Given the description of an element on the screen output the (x, y) to click on. 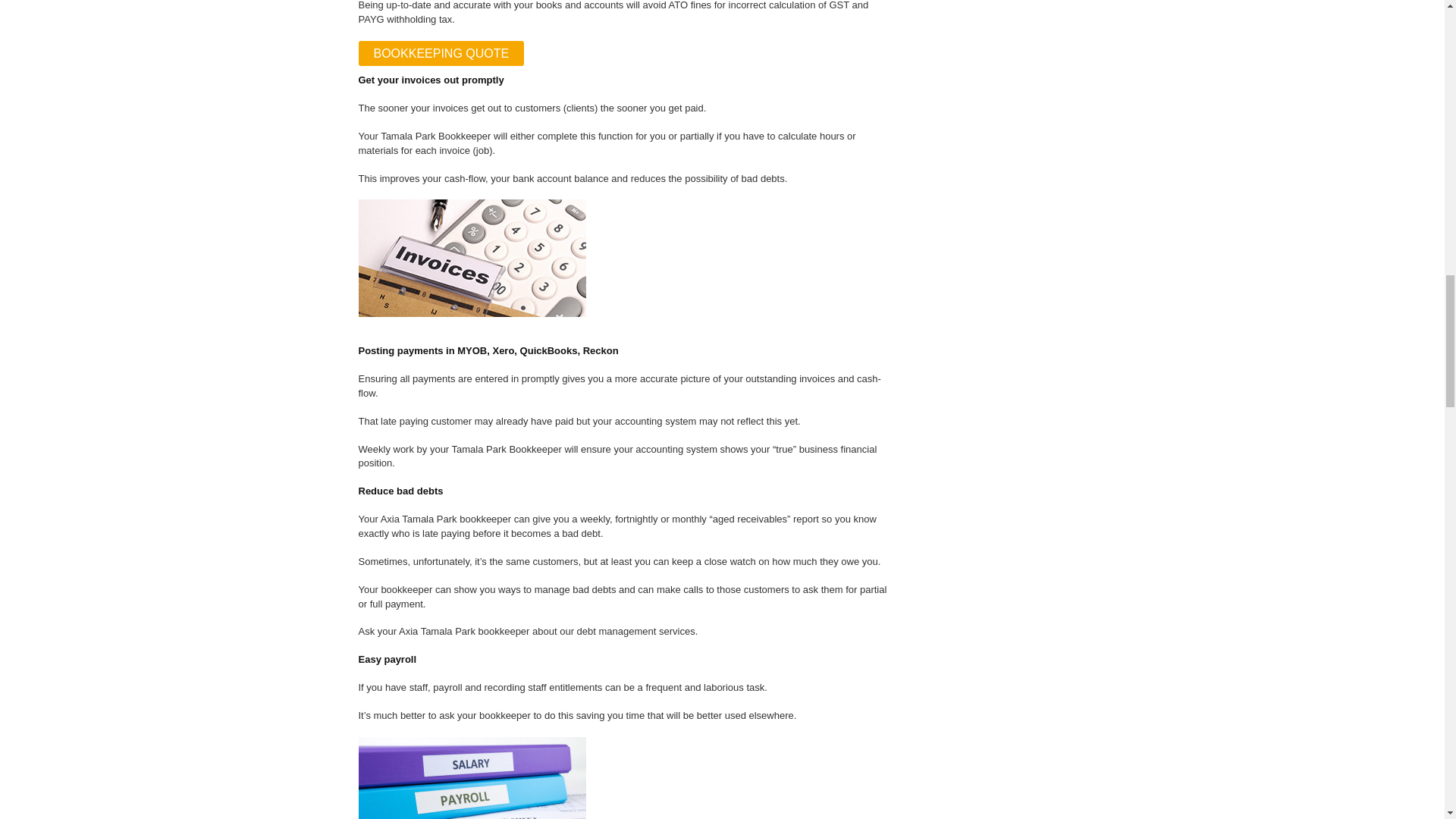
BOOKKEEPING QUOTE (441, 53)
